Given the description of an element on the screen output the (x, y) to click on. 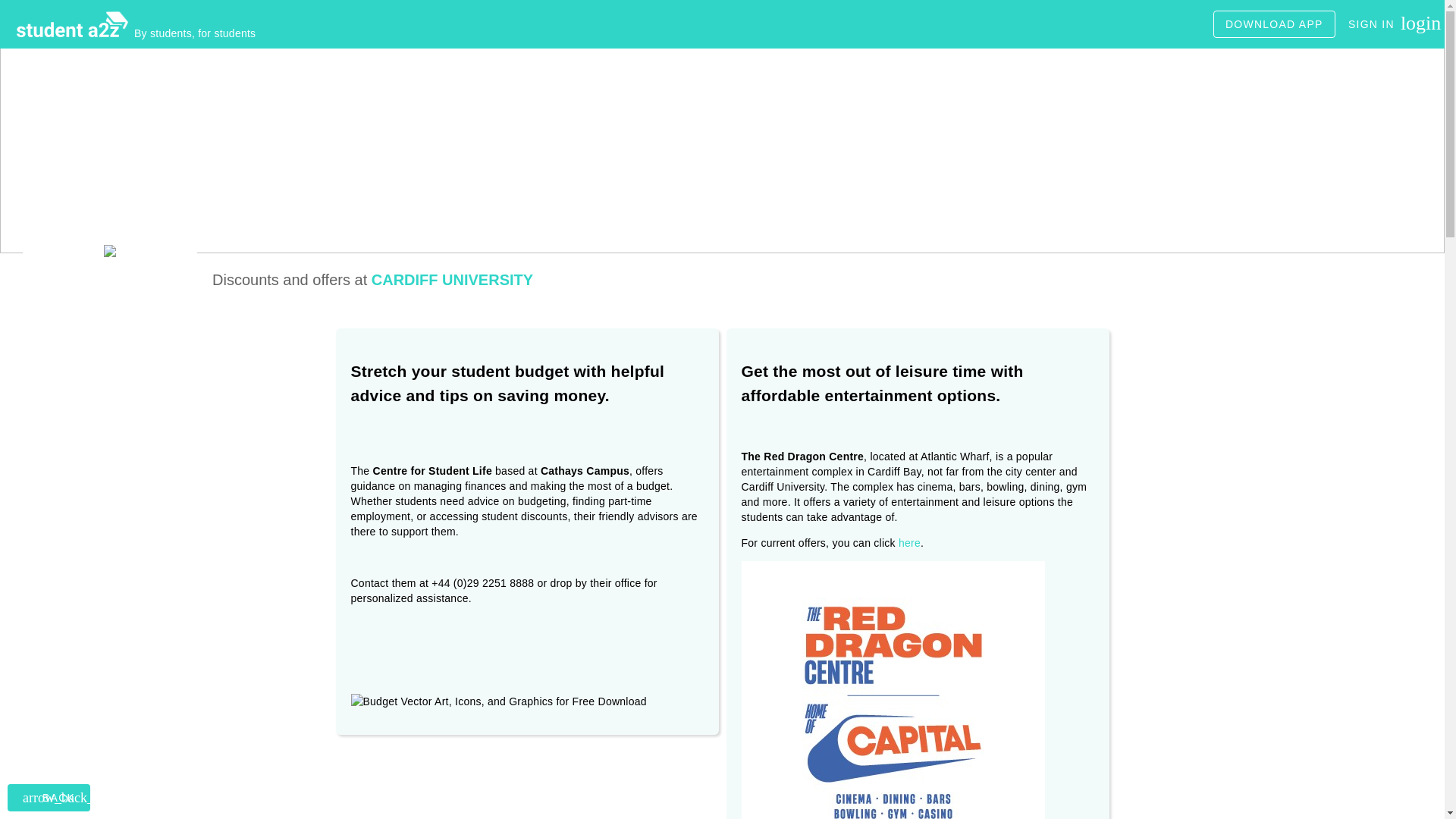
DOWNLOAD APP (1273, 23)
CARDIFF UNIVERSITY (451, 279)
here (909, 542)
